Given the description of an element on the screen output the (x, y) to click on. 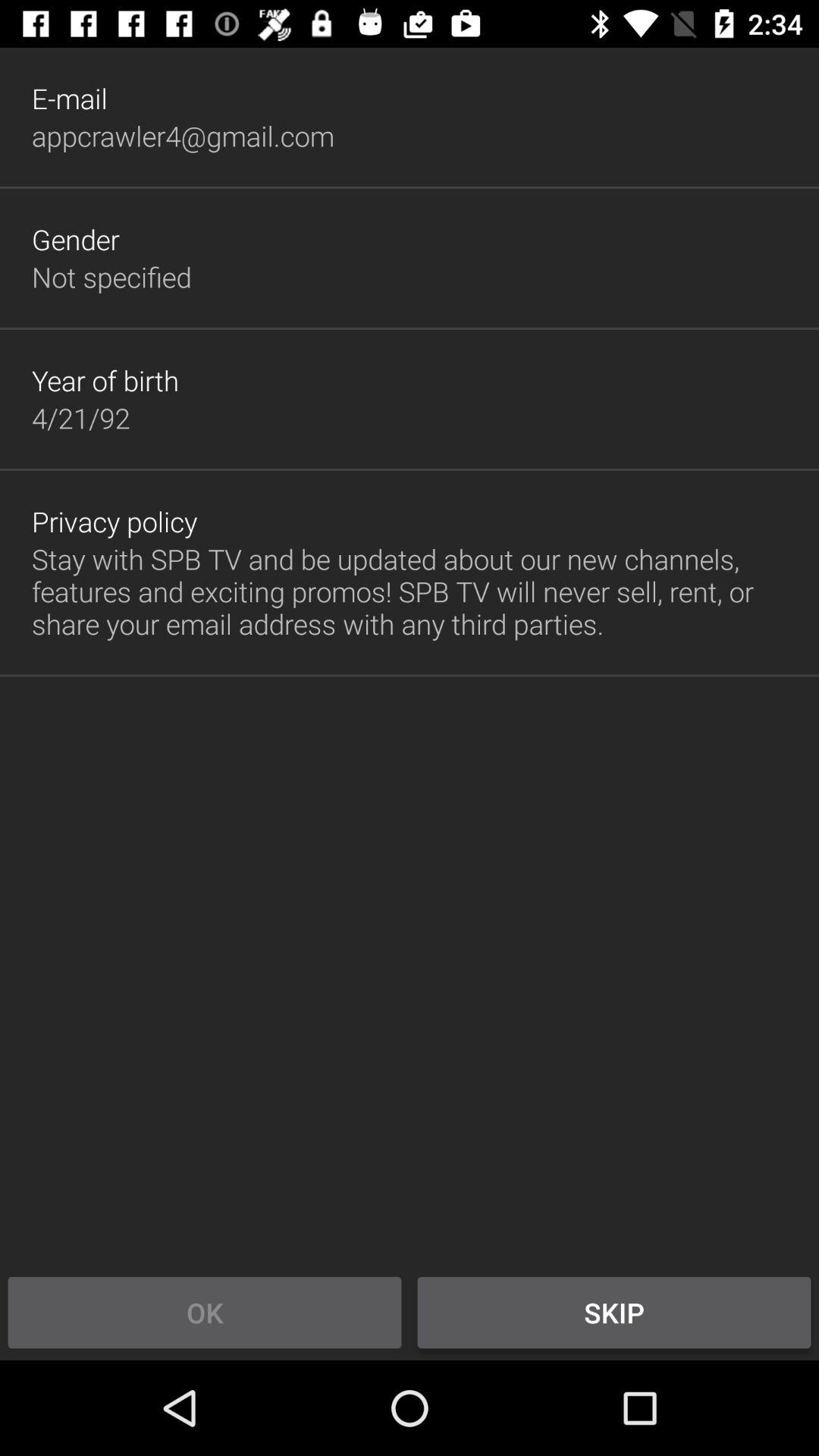
choose icon below the e-mail icon (182, 135)
